Given the description of an element on the screen output the (x, y) to click on. 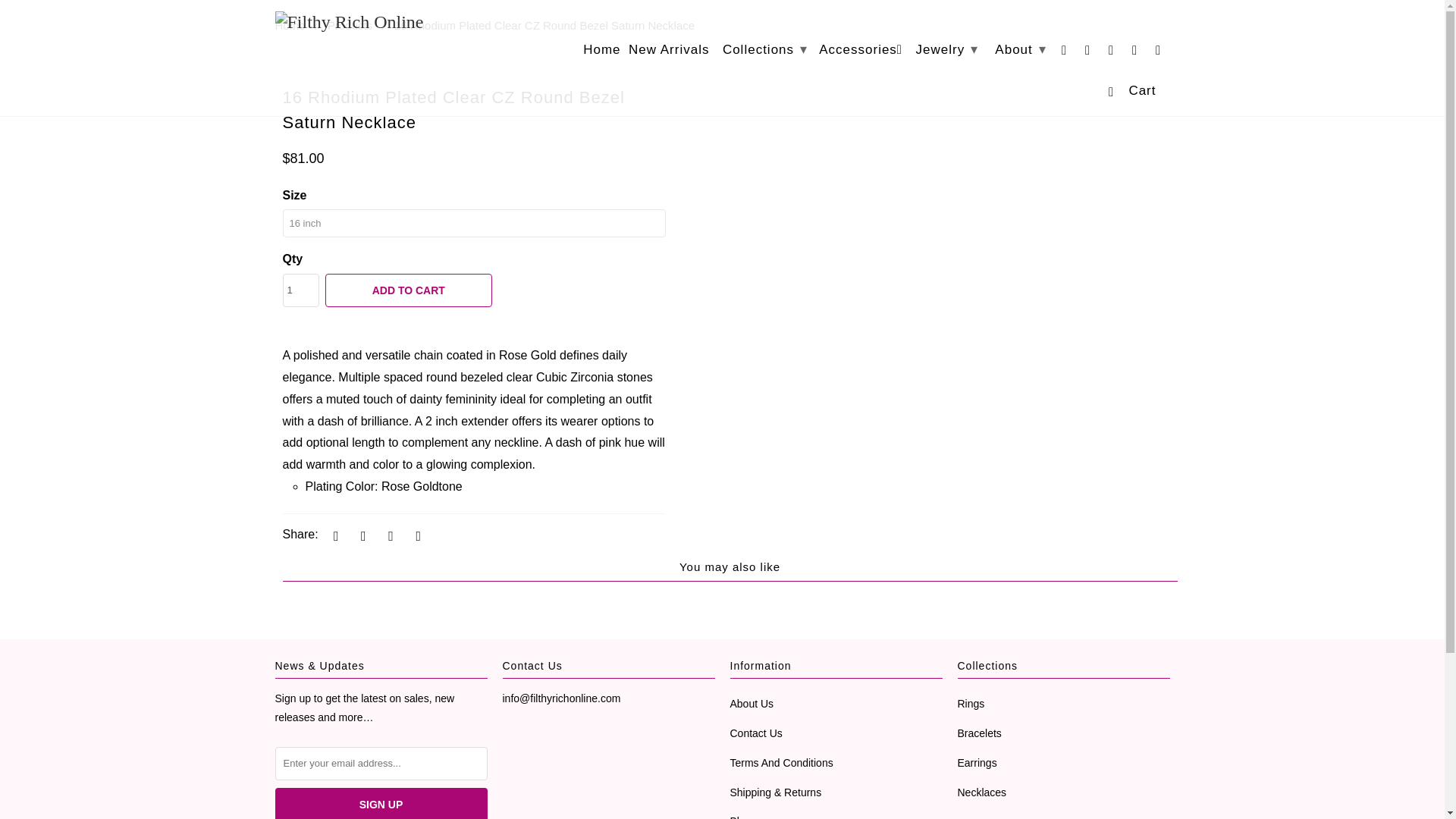
Share this on Pinterest (389, 534)
Filthy Rich Online  on Facebook (1089, 52)
Filthy Rich Online  (375, 22)
Search (1159, 52)
Filthy Rich Online  on Instagram (1113, 52)
Sign Up (380, 803)
Email this to a friend (416, 534)
My Account  (1136, 52)
Filthy Rich Online  (289, 24)
Filthy Rich Online  on Twitter (1066, 52)
Products (349, 24)
Share this on Facebook (360, 534)
New Arrivals (668, 52)
Share this on Twitter (333, 534)
1 (300, 290)
